Given the description of an element on the screen output the (x, y) to click on. 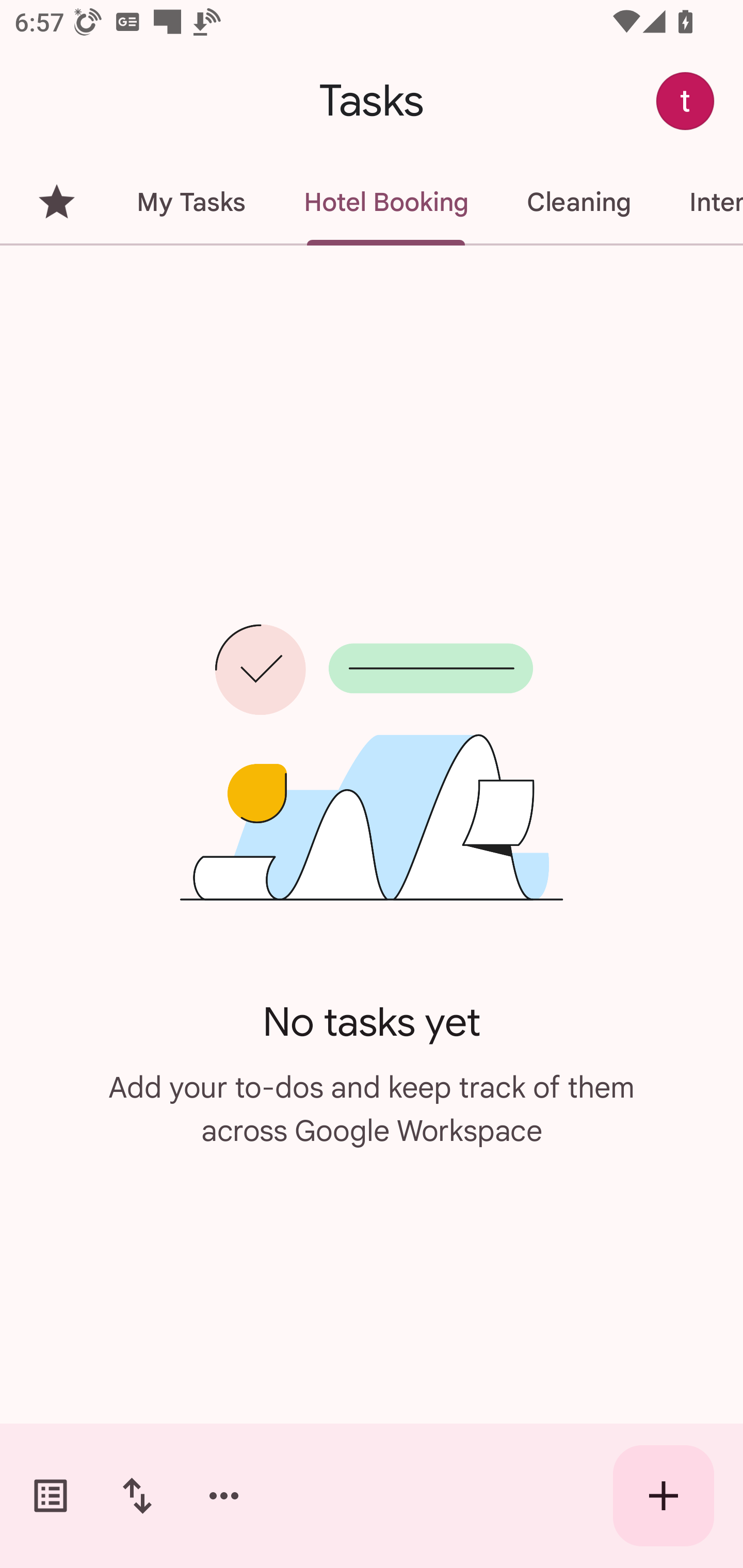
Starred (55, 202)
My Tasks (190, 202)
Cleaning (578, 202)
Interview (701, 202)
Switch task lists (50, 1495)
Create new task (663, 1495)
Change sort order (136, 1495)
More options (223, 1495)
